Given the description of an element on the screen output the (x, y) to click on. 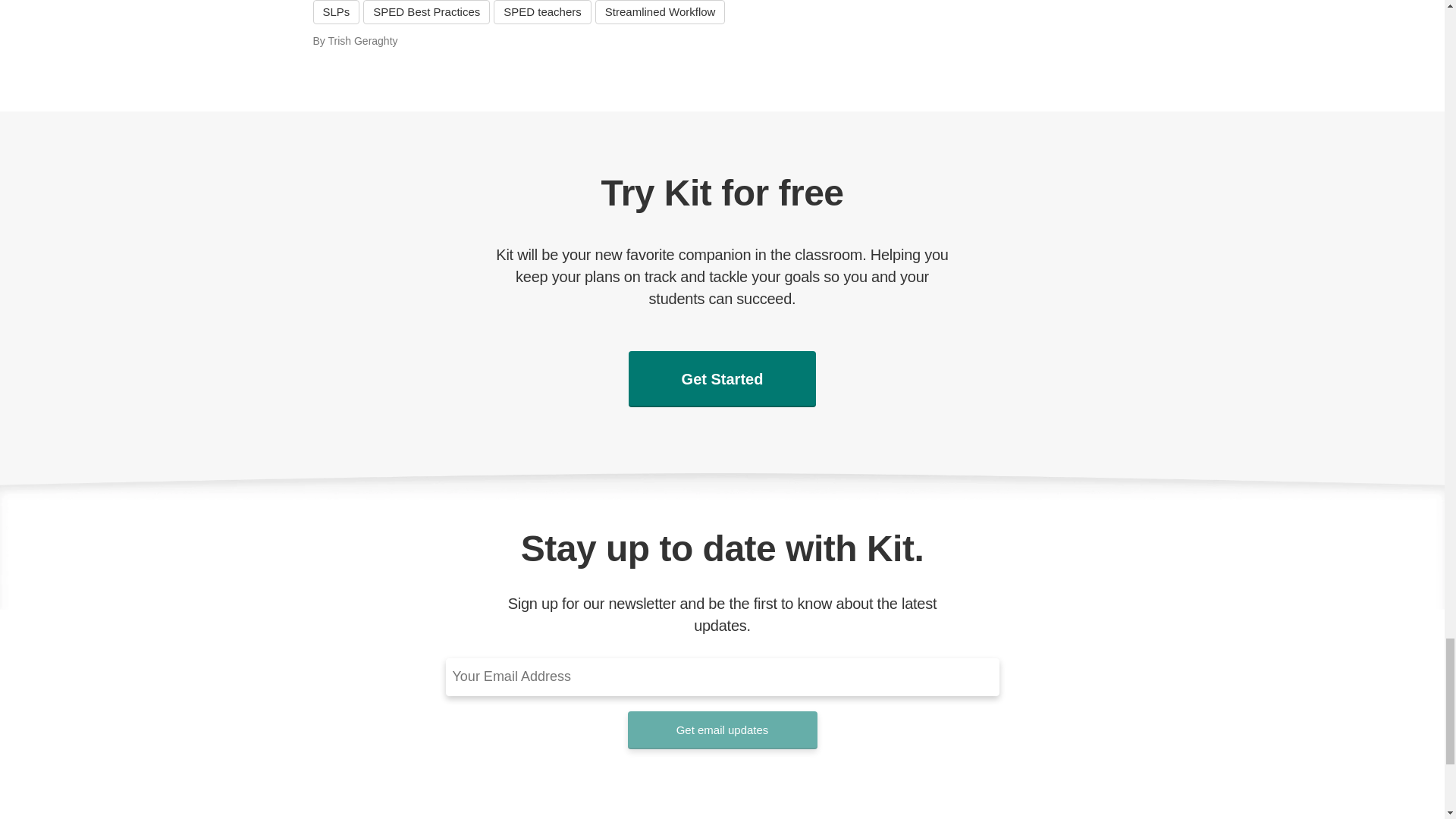
Get email updates (721, 730)
